Given the description of an element on the screen output the (x, y) to click on. 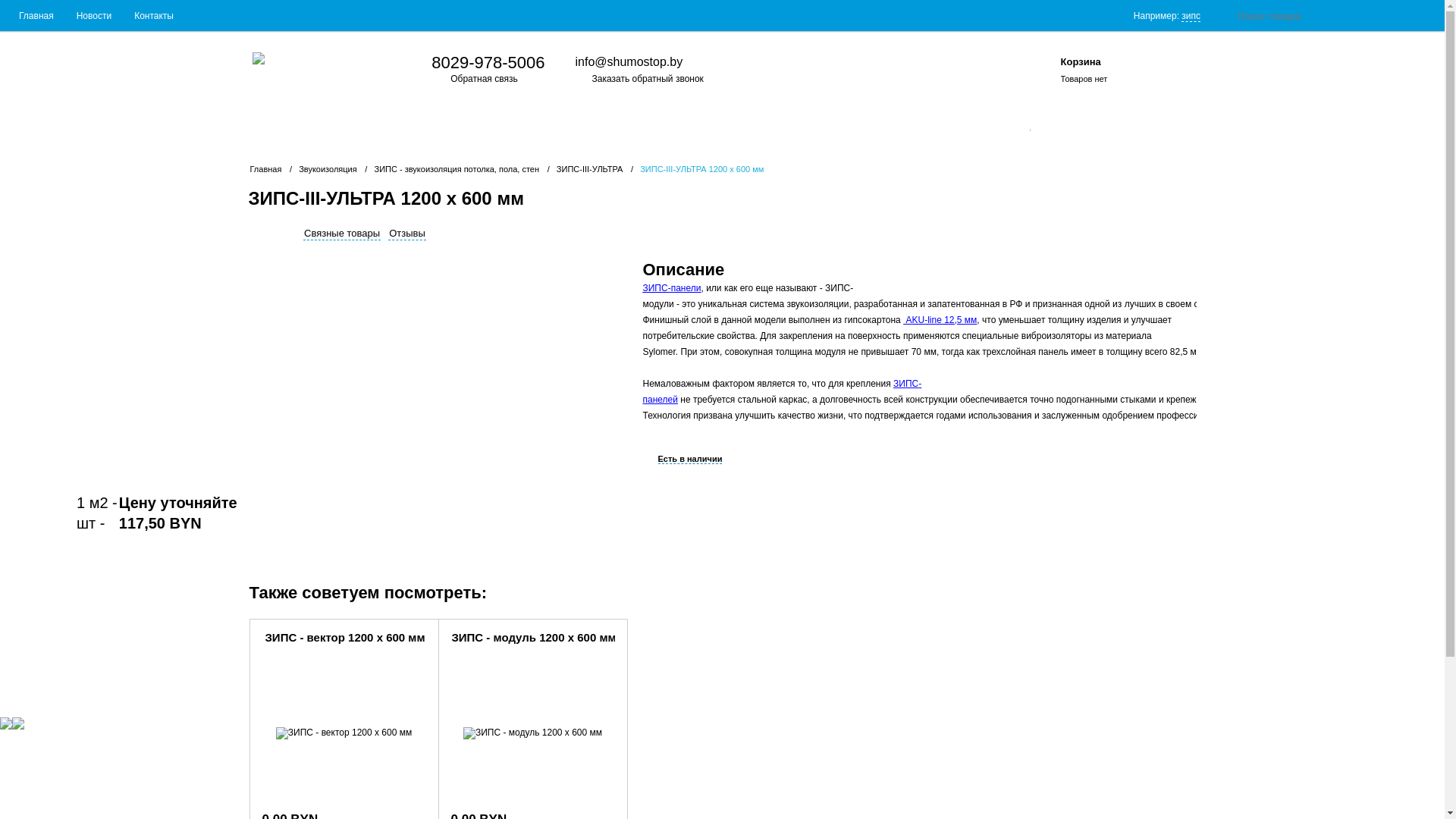
  Element type: text (1037, 72)
